Given the description of an element on the screen output the (x, y) to click on. 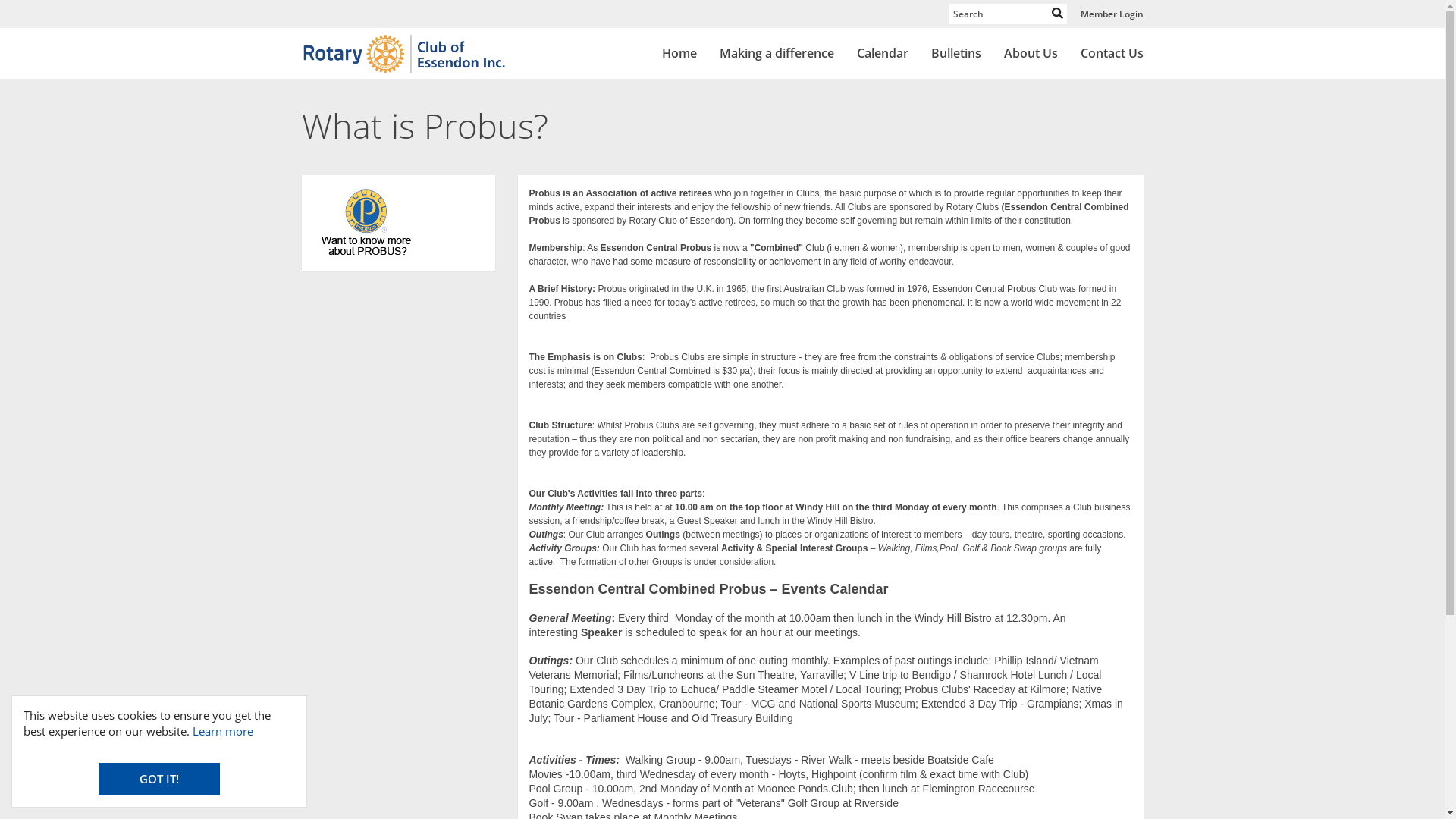
Calendar Element type: text (881, 53)
Member Login Element type: text (1110, 13)
Bulletins Element type: text (955, 53)
Learn more Element type: text (222, 730)
About Us Element type: text (1029, 53)
Contact Us Element type: text (1111, 53)
Making a difference Element type: text (776, 53)
Home Element type: text (679, 53)
GOT IT! Element type: text (158, 778)
